Given the description of an element on the screen output the (x, y) to click on. 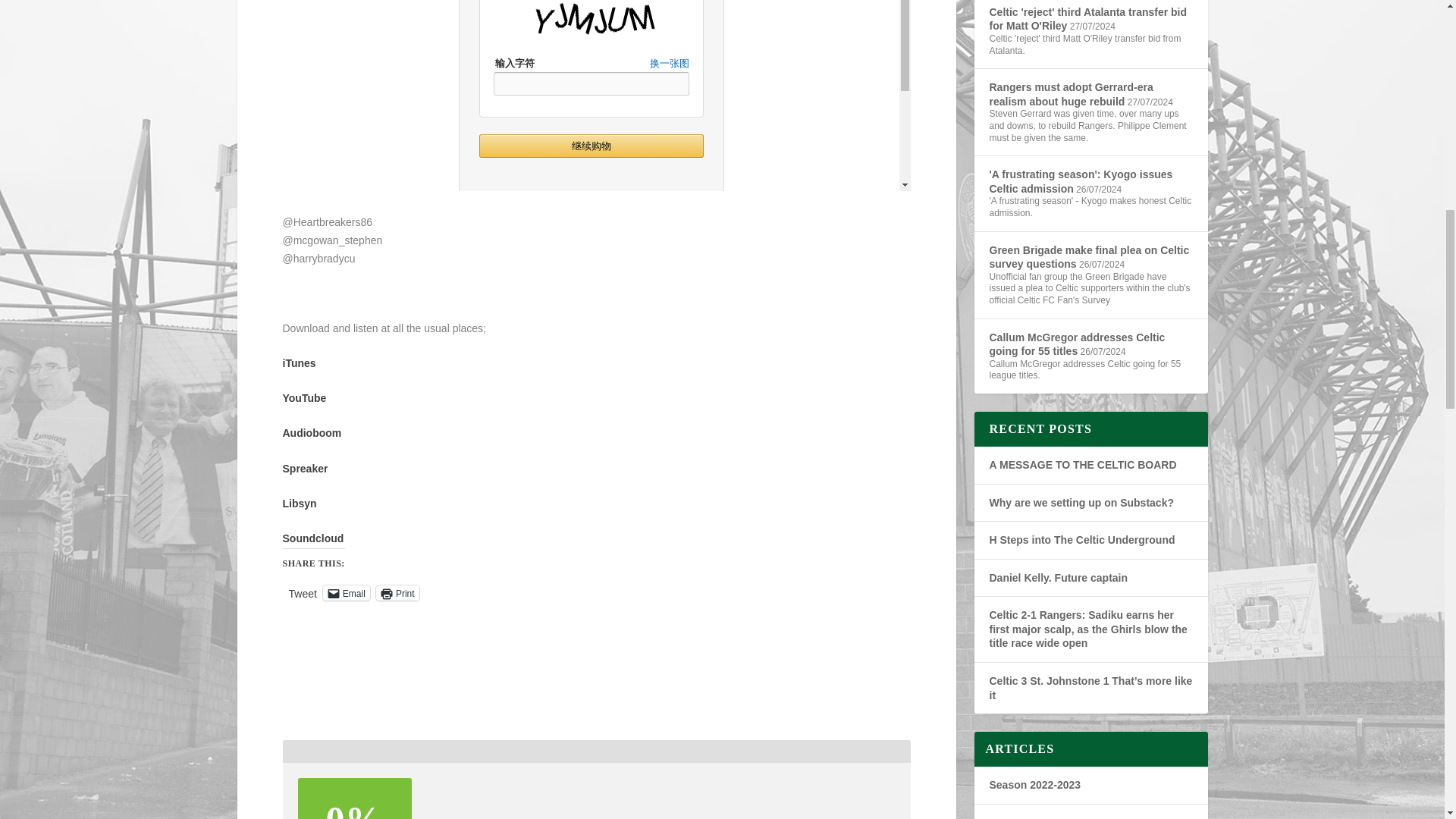
Click to print (397, 592)
Click to email a link to a friend (346, 592)
